Given the description of an element on the screen output the (x, y) to click on. 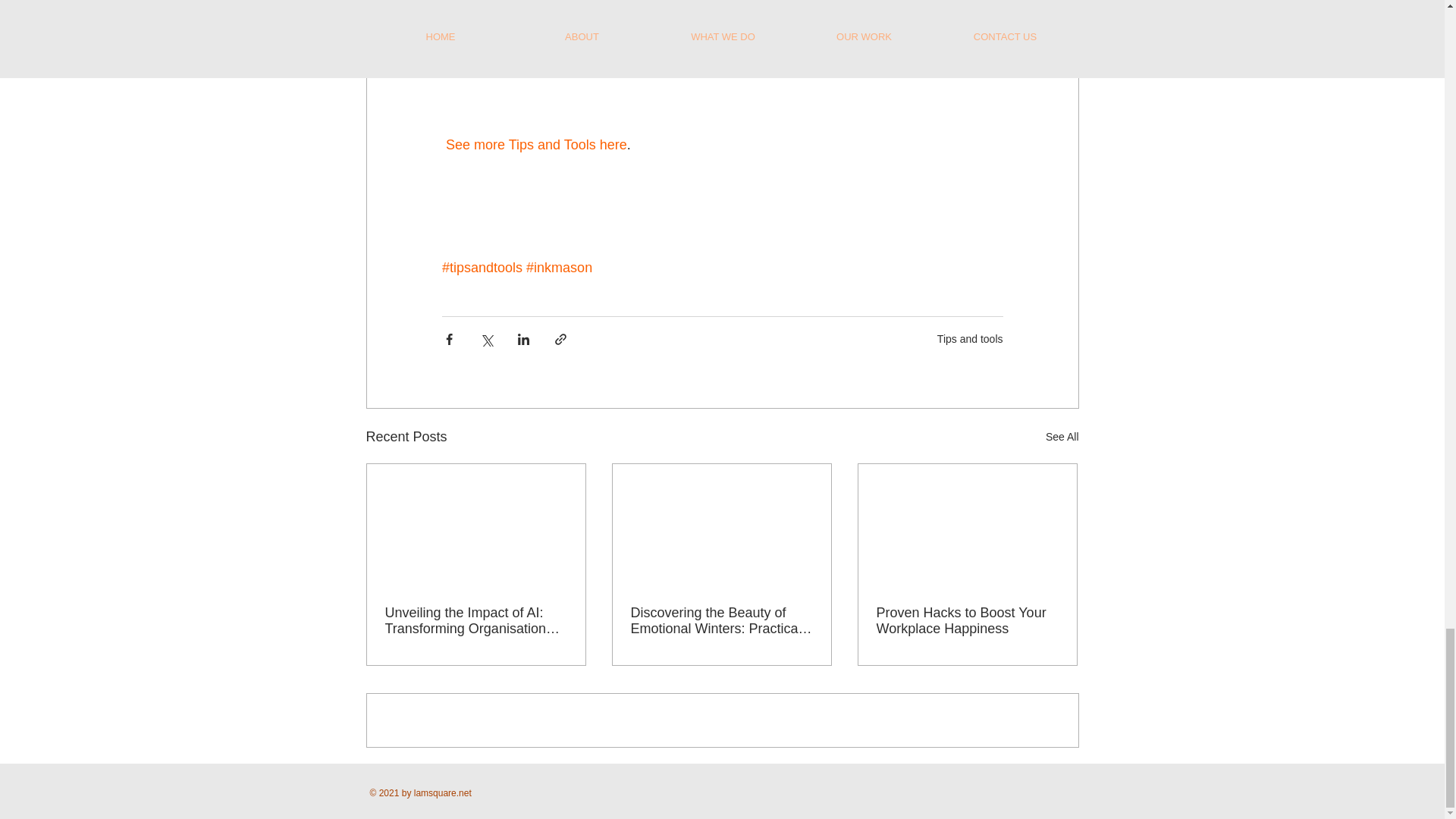
See All (1061, 436)
Tips and tools (970, 338)
See more Tips and Tools here (536, 143)
Proven Hacks to Boost Your Workplace Happiness (967, 621)
